Given the description of an element on the screen output the (x, y) to click on. 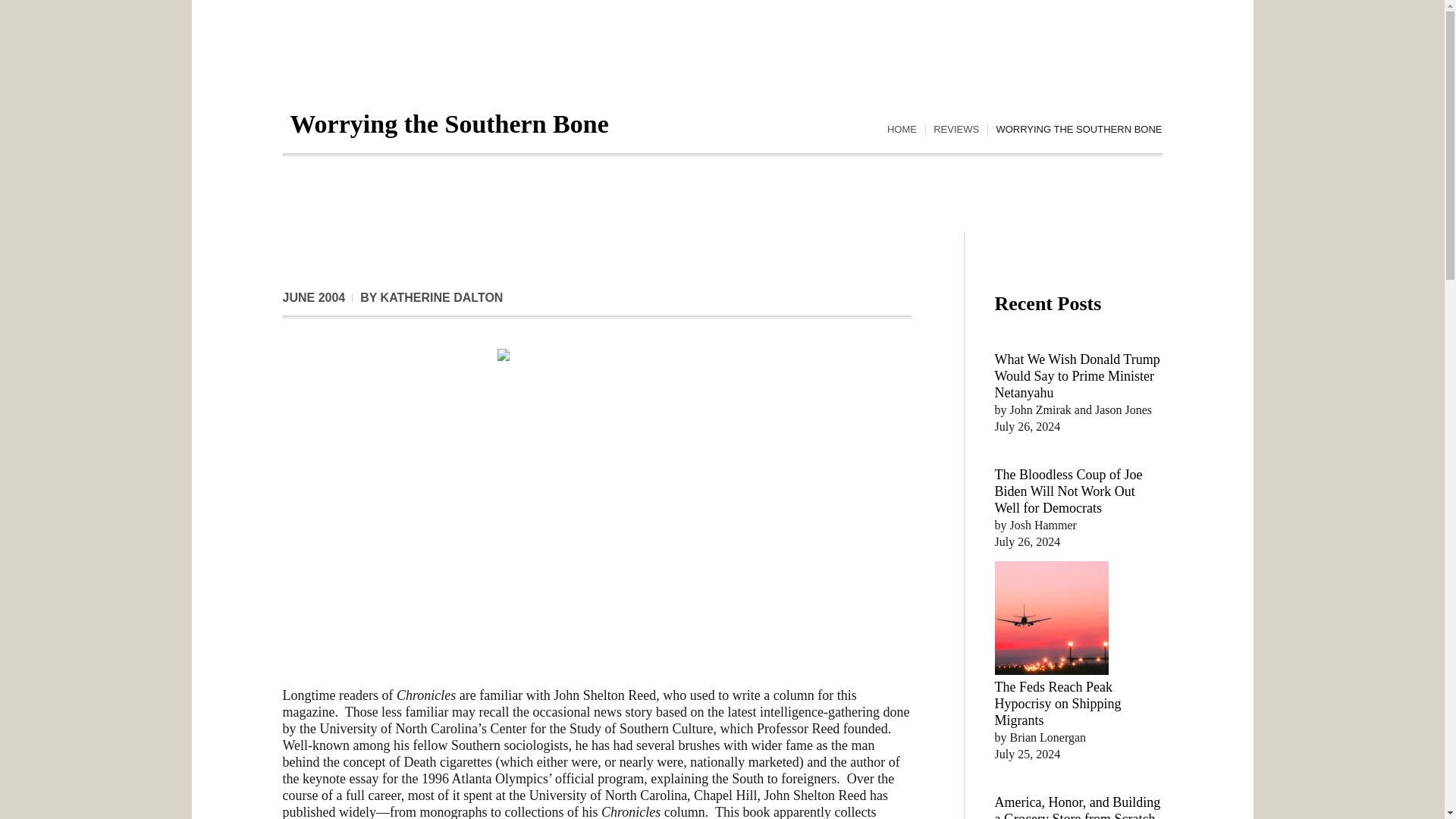
KATHERINE DALTON (441, 297)
America, Honor, and Building a Grocery Store from Scratch (1077, 806)
REVIEWS (955, 129)
Posts by Katherine Dalton (441, 297)
The Feds Reach Peak Hypocrisy on Shipping Migrants (1057, 703)
HOME (901, 129)
June 01,  (313, 297)
